Given the description of an element on the screen output the (x, y) to click on. 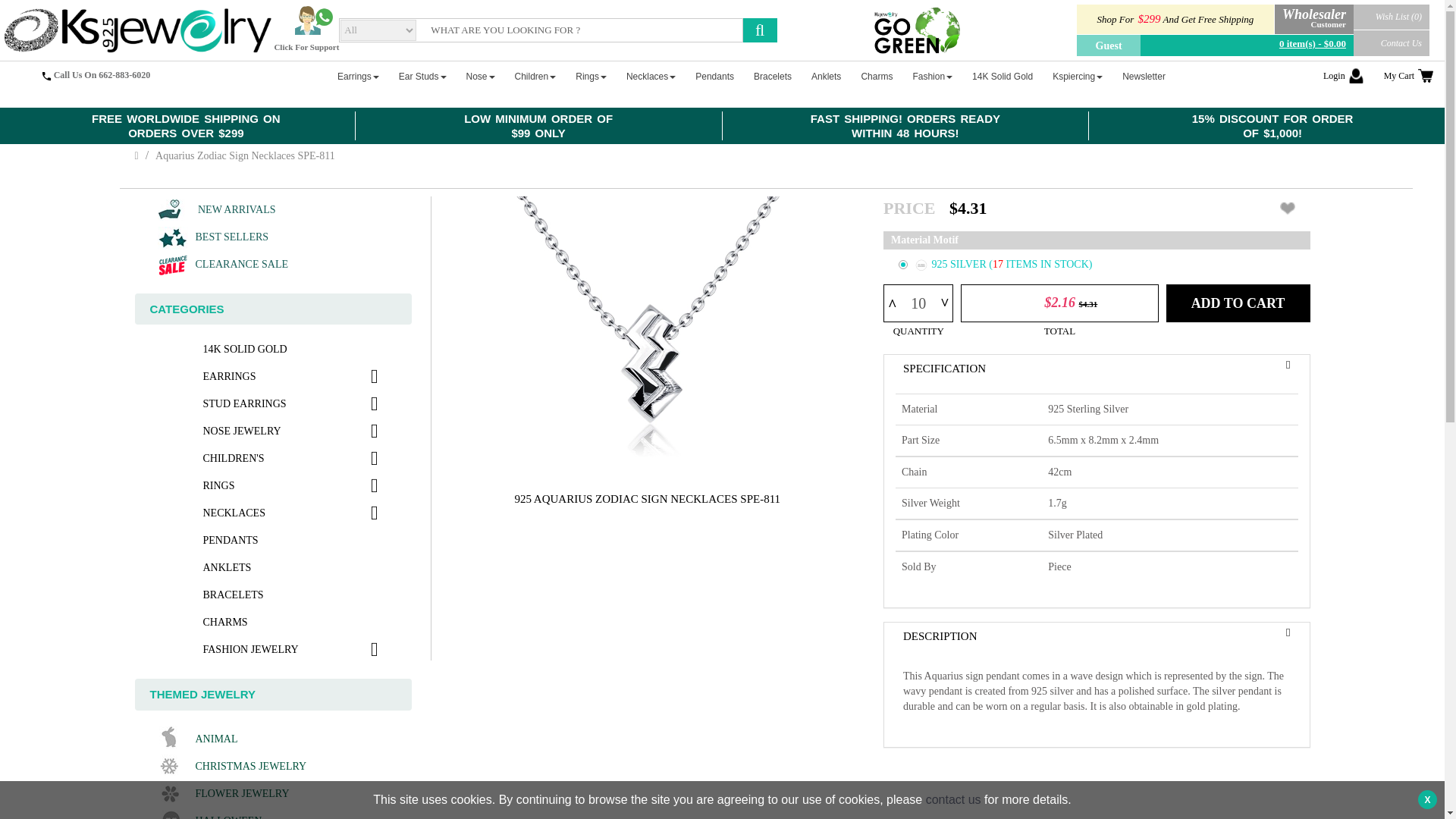
Ear Studs (422, 76)
Wholesale Sterling Silver Jewelry (136, 30)
Nose (480, 76)
Contact Us (1391, 43)
Aquarius Zodiac Sign Necklaces SPE-811 (647, 332)
call (46, 75)
Earrings (358, 76)
10 (918, 303)
91082 (902, 264)
